Given the description of an element on the screen output the (x, y) to click on. 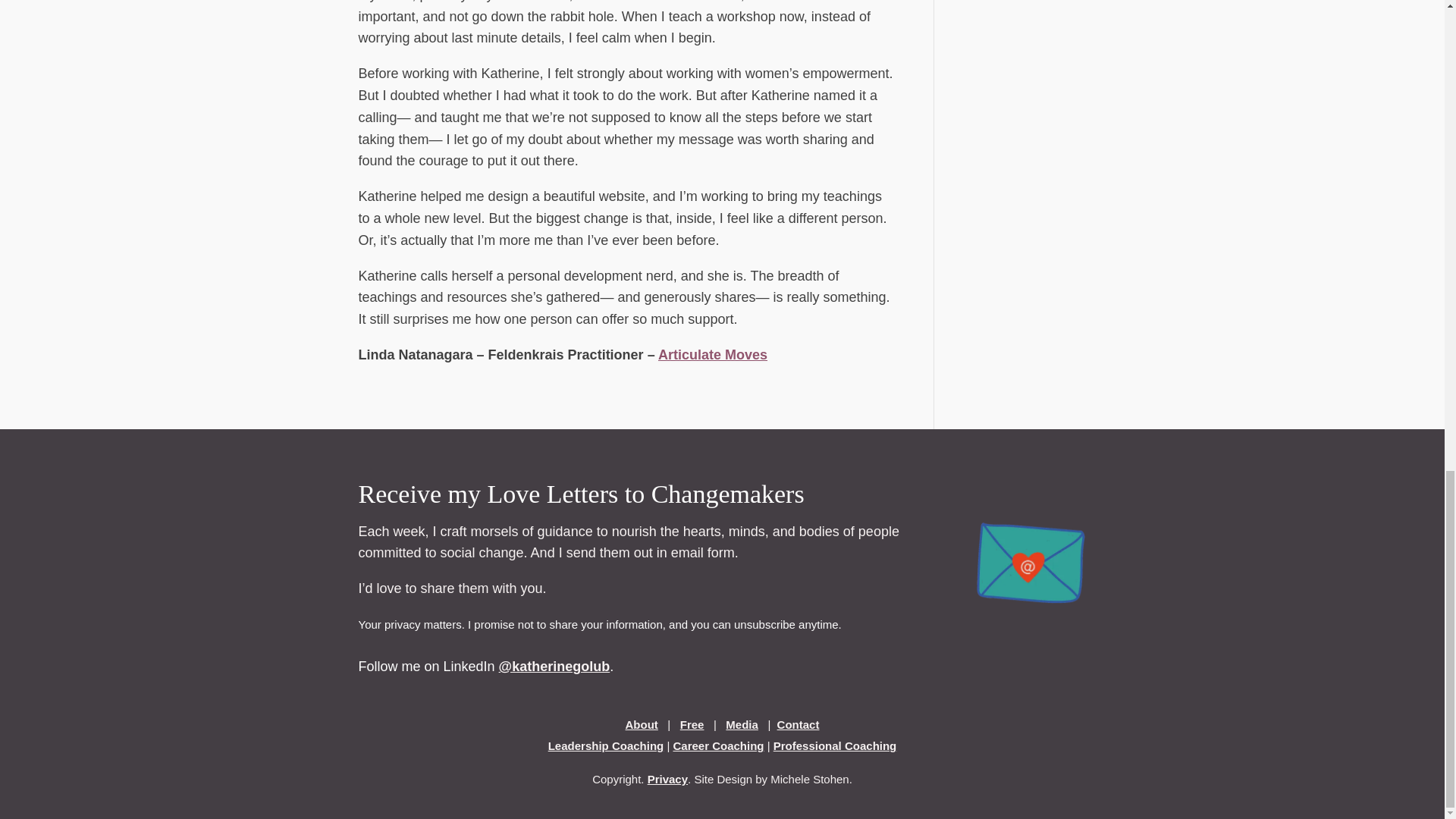
Professional Coaching (834, 745)
Media (741, 724)
About (642, 724)
Contact (798, 724)
Articulate Moves (712, 354)
About (642, 724)
Contact (798, 724)
Privacy (667, 779)
Leadership Coaching (605, 745)
Free (691, 724)
